Given the description of an element on the screen output the (x, y) to click on. 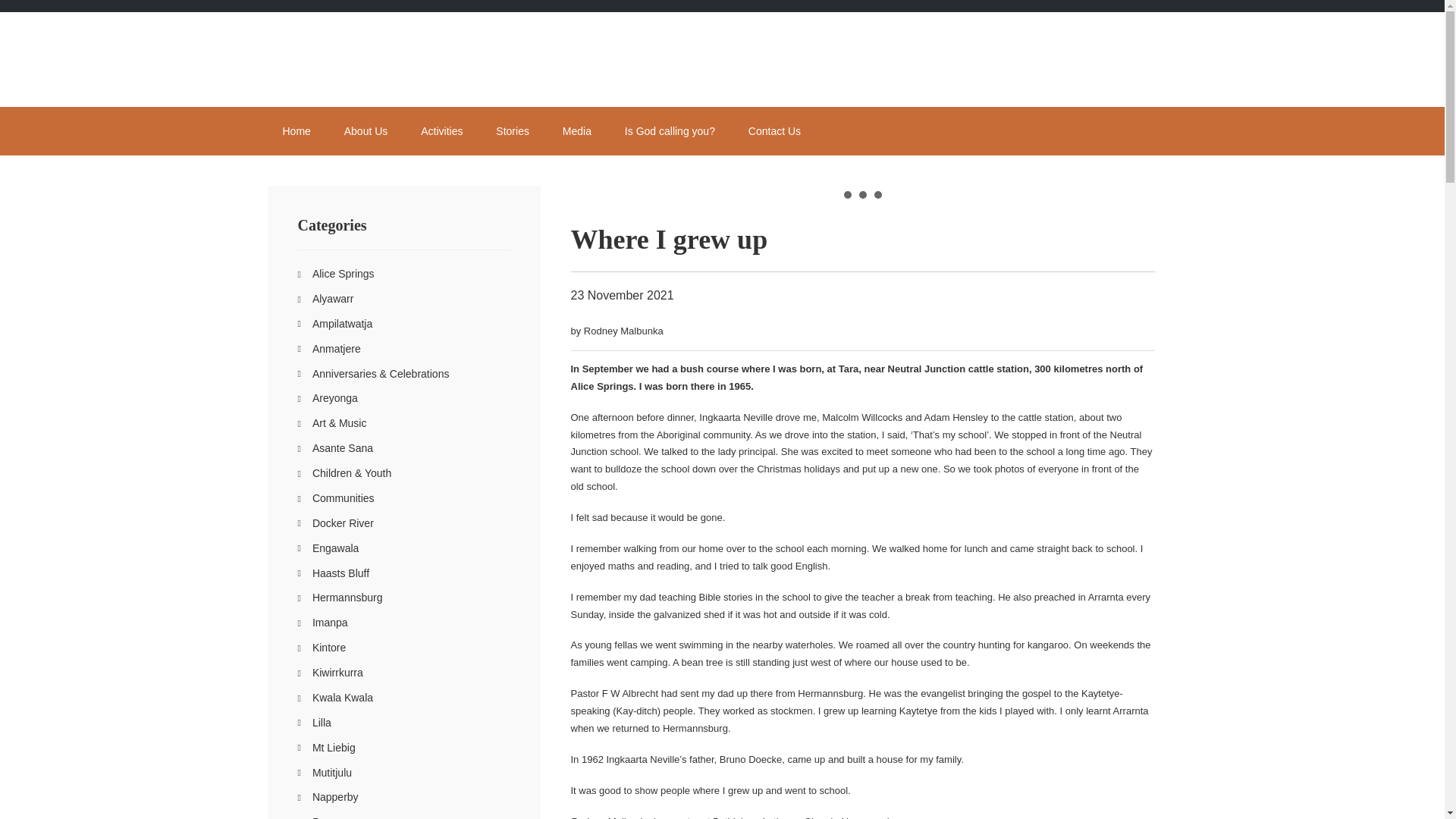
Finke River Mission (399, 59)
Next (1134, 185)
Stories (512, 131)
Home (295, 131)
Hermannsburg (347, 597)
Alyawarr (333, 298)
Is God calling you? (670, 131)
Kintore (329, 647)
Prev (590, 185)
2 (862, 194)
Asante Sana (342, 448)
Haasts Bluff (341, 573)
About Us (366, 131)
Media (577, 131)
1 (846, 194)
